Given the description of an element on the screen output the (x, y) to click on. 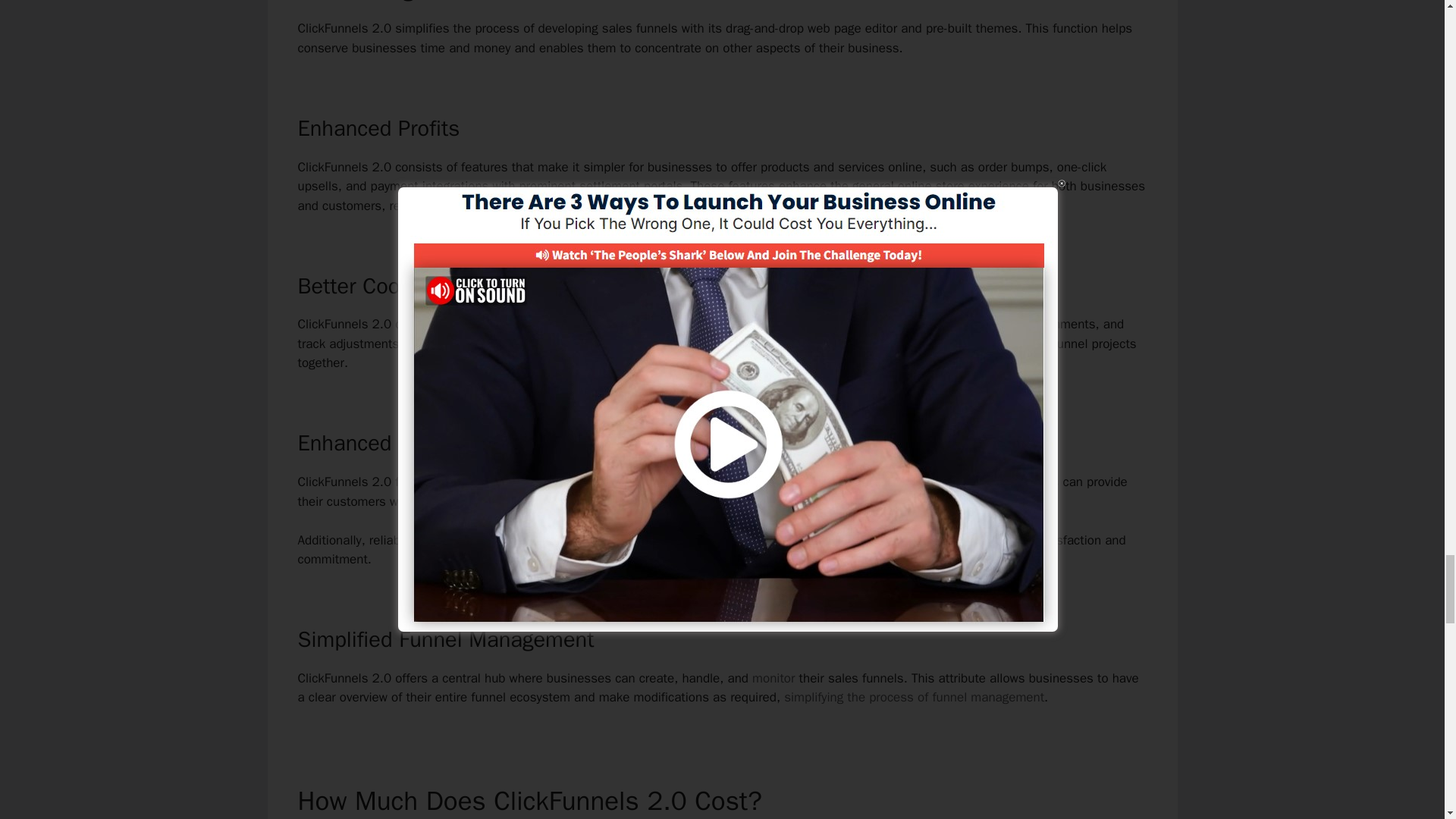
monitor (773, 678)
simplifying the process of funnel management (913, 697)
